Given the description of an element on the screen output the (x, y) to click on. 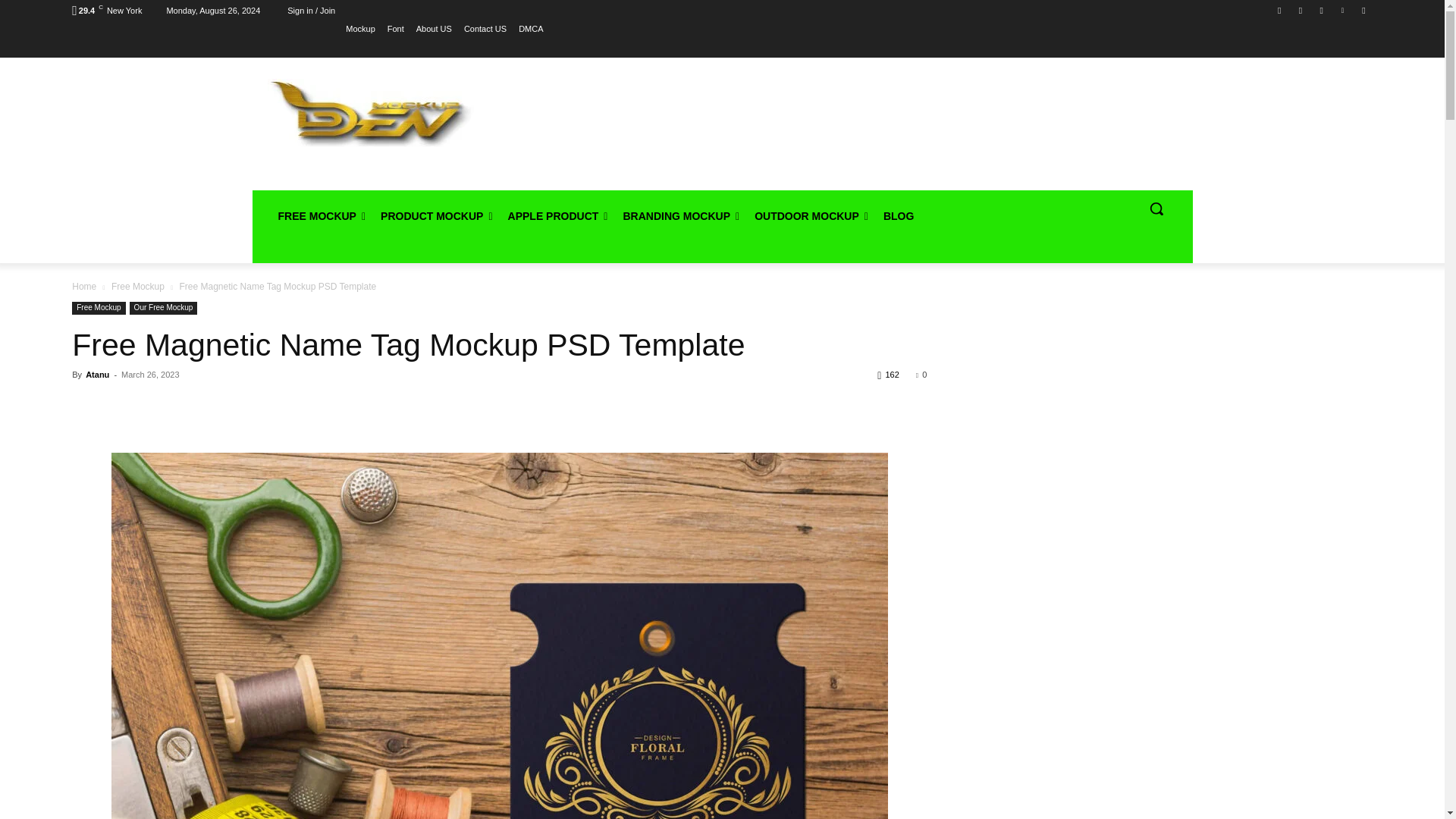
Vimeo (1342, 9)
Instagram (1300, 9)
Facebook (1279, 9)
Contact US (485, 28)
Twitter (1321, 9)
About US (433, 28)
DMCA (530, 28)
FREE MOCKUP (320, 215)
Youtube (1364, 9)
Mockup (360, 28)
